Given the description of an element on the screen output the (x, y) to click on. 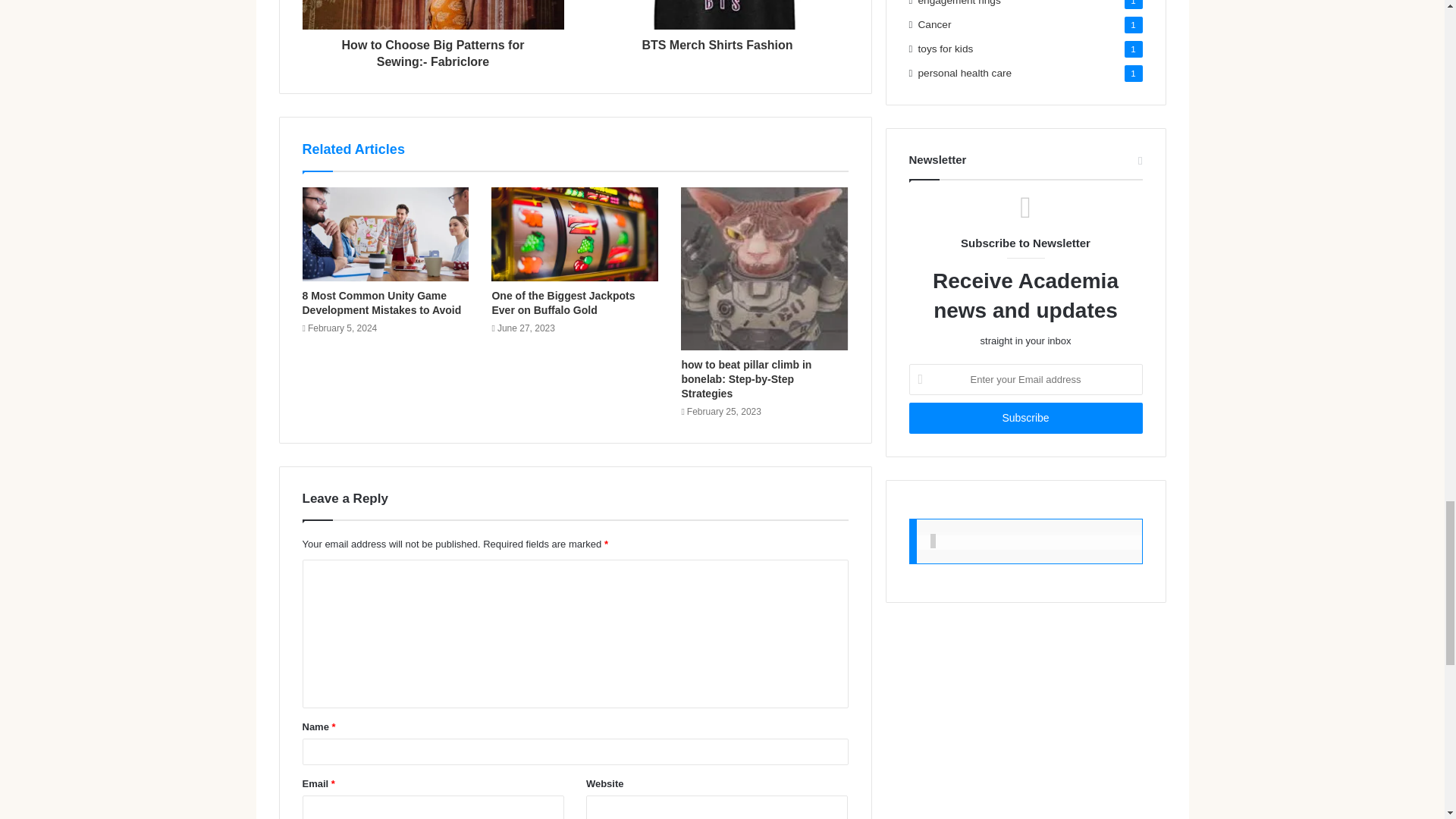
Subscribe (1025, 418)
